Given the description of an element on the screen output the (x, y) to click on. 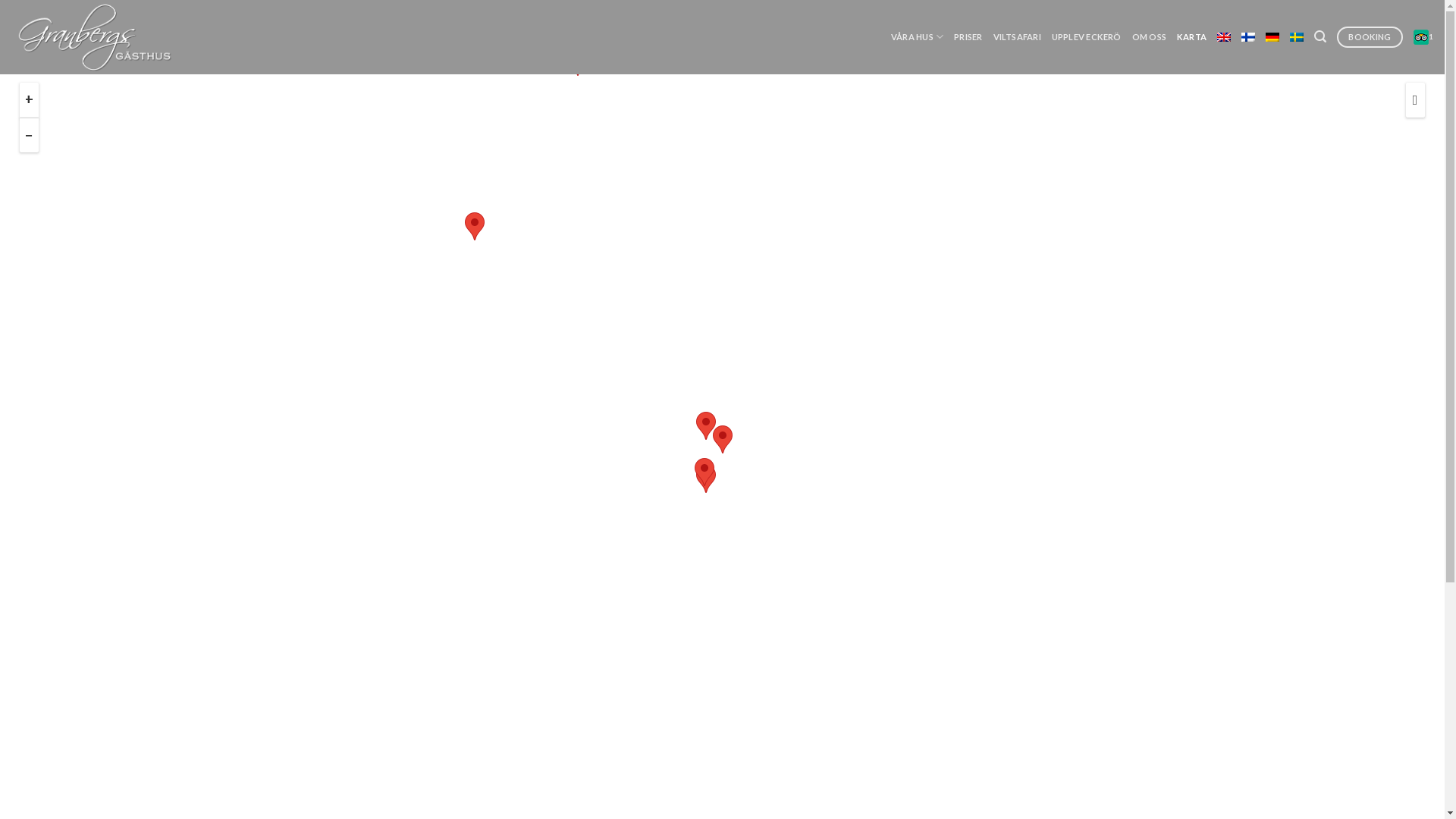
+ Element type: text (28, 99)
Granbergs Element type: hover (130, 37)
KARTA Element type: text (1191, 36)
1 Element type: text (1423, 36)
BOOKING Element type: text (1369, 36)
PRISER Element type: text (967, 36)
OM OSS Element type: text (1149, 36)
VILTSAFARI Element type: text (1017, 36)
